Given the description of an element on the screen output the (x, y) to click on. 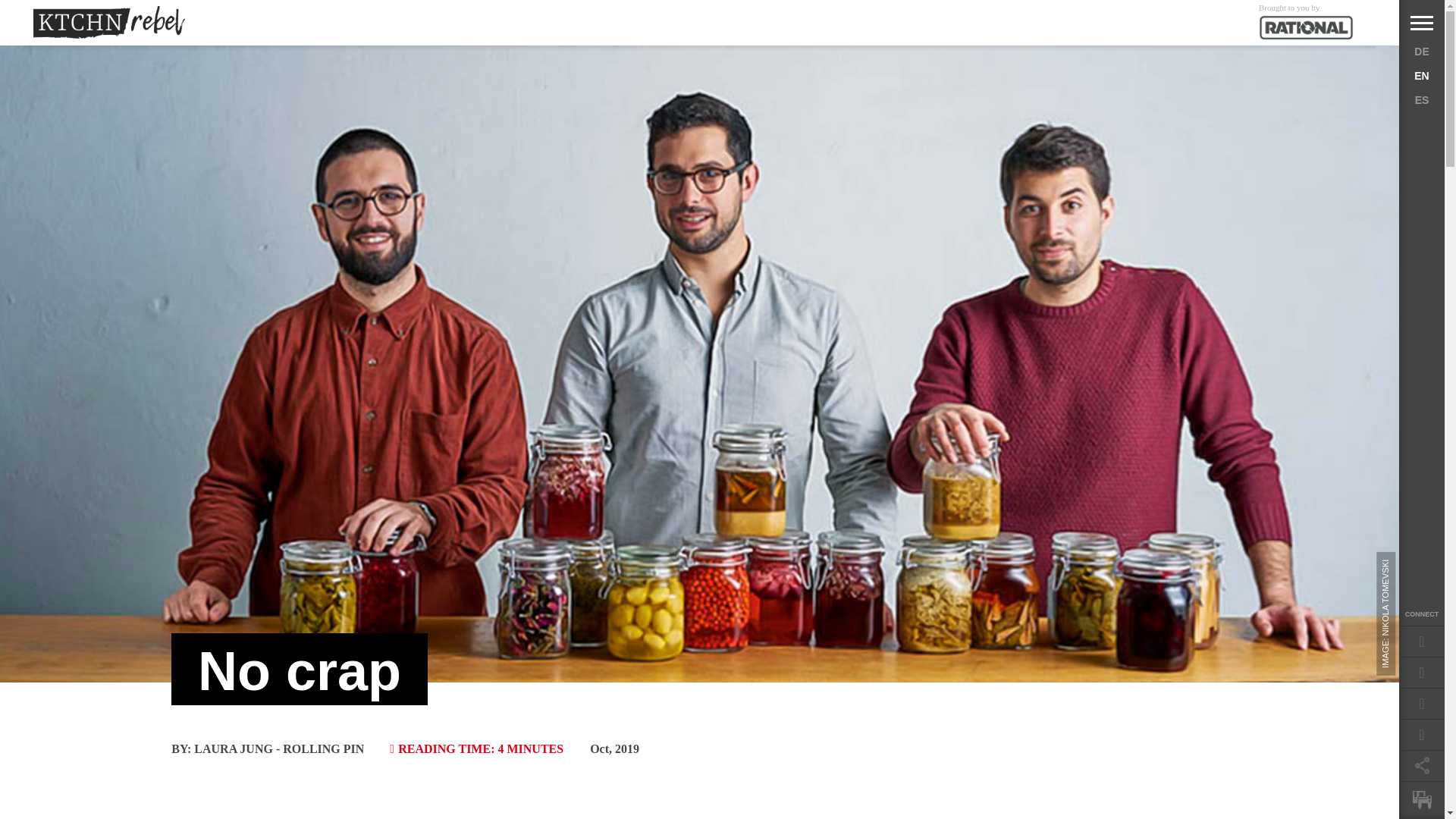
Posts by Laura Jung - Rolling Pin (278, 748)
LAURA JUNG - ROLLING PIN (278, 748)
